Given the description of an element on the screen output the (x, y) to click on. 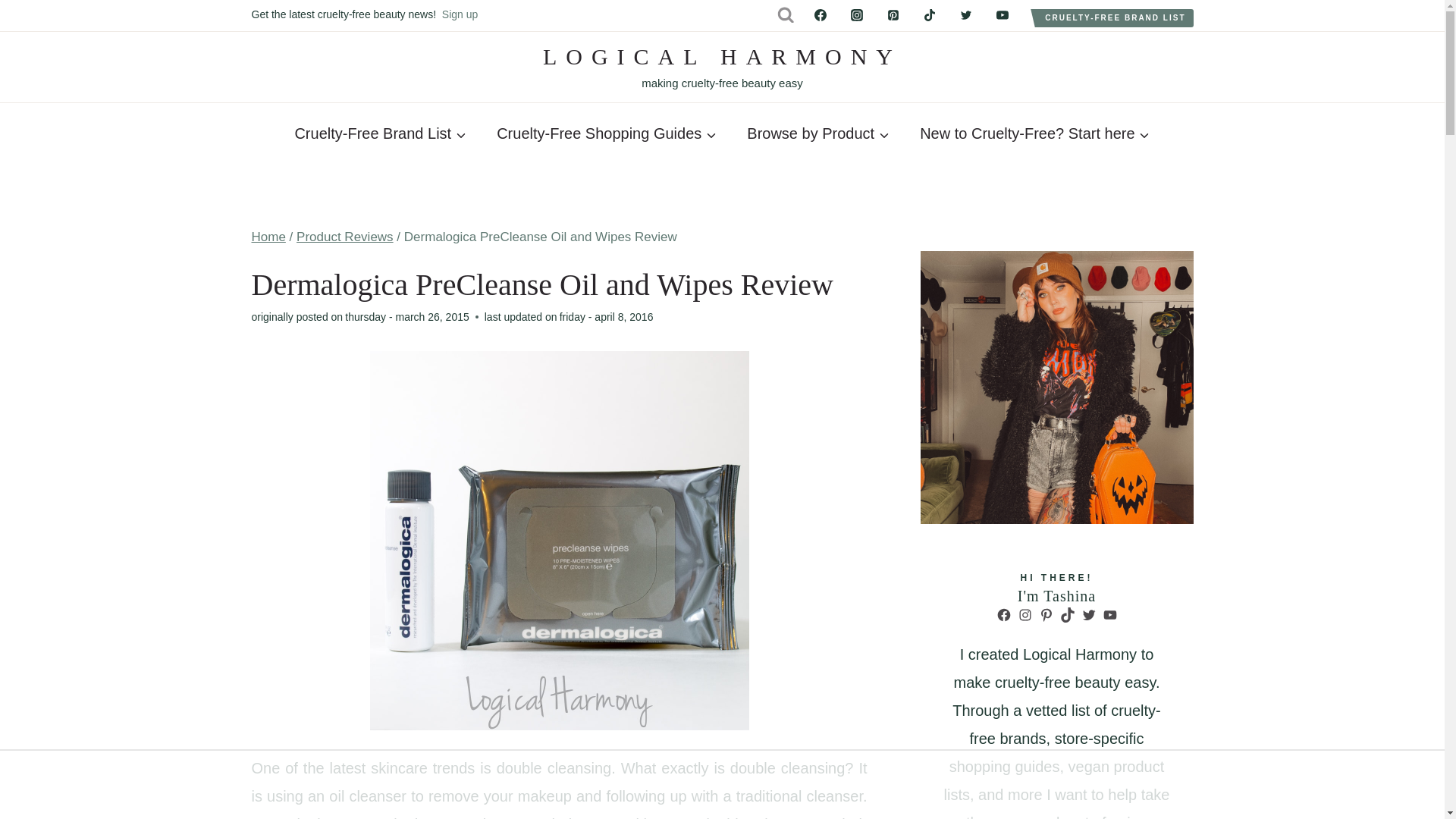
Browse by Product (818, 133)
New to Cruelty-Free? Start here (722, 66)
Cruelty-Free Brand List (1034, 133)
Dermalogica PreCleanse Oil and Wipes Review (380, 133)
CRUELTY-FREE BRAND LIST (459, 14)
Cruelty-Free Shopping Guides (1114, 18)
3rd party ad content (606, 133)
